Given the description of an element on the screen output the (x, y) to click on. 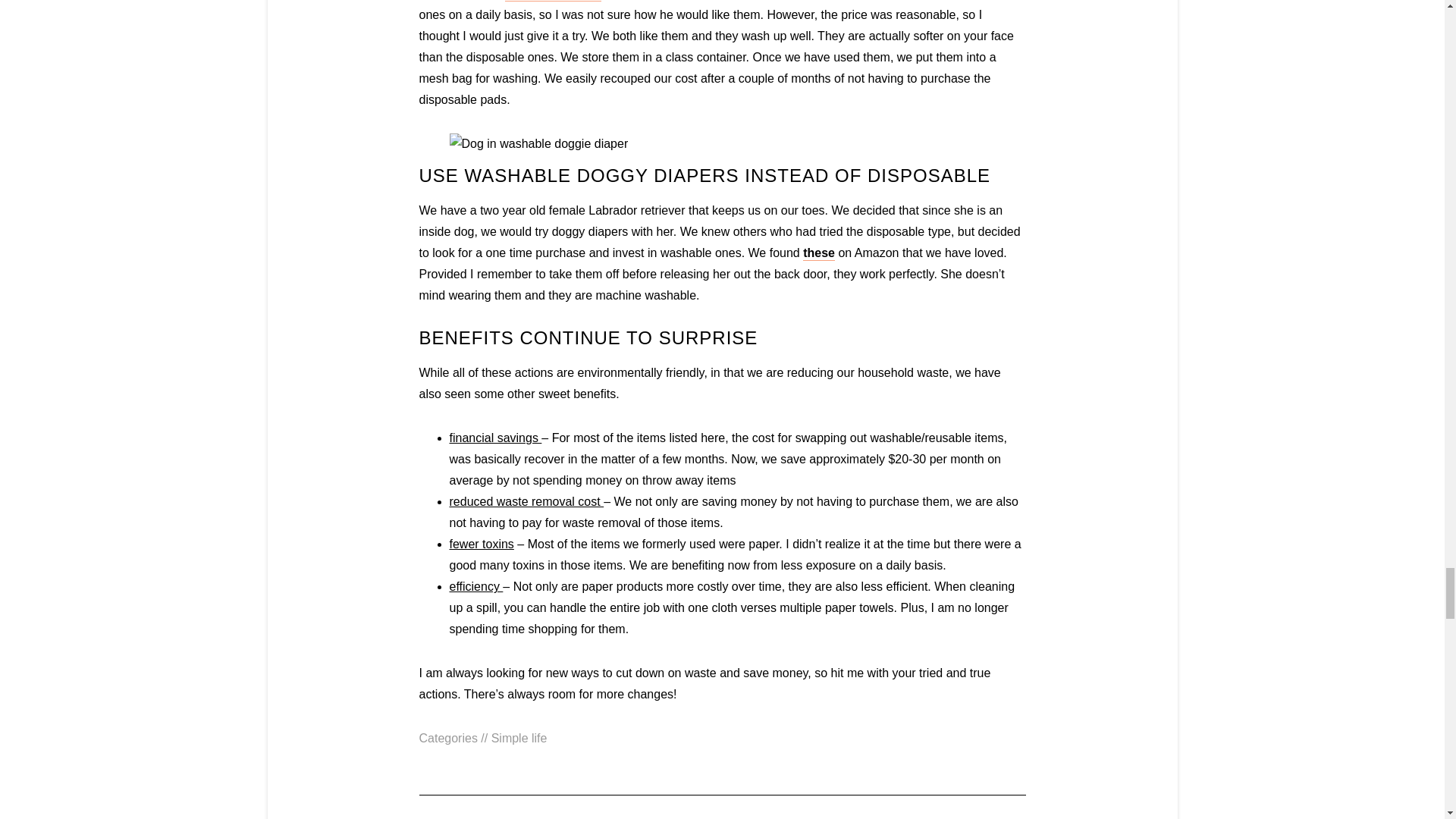
cotton face pads (553, 0)
these (818, 253)
Simple life (519, 738)
